Given the description of an element on the screen output the (x, y) to click on. 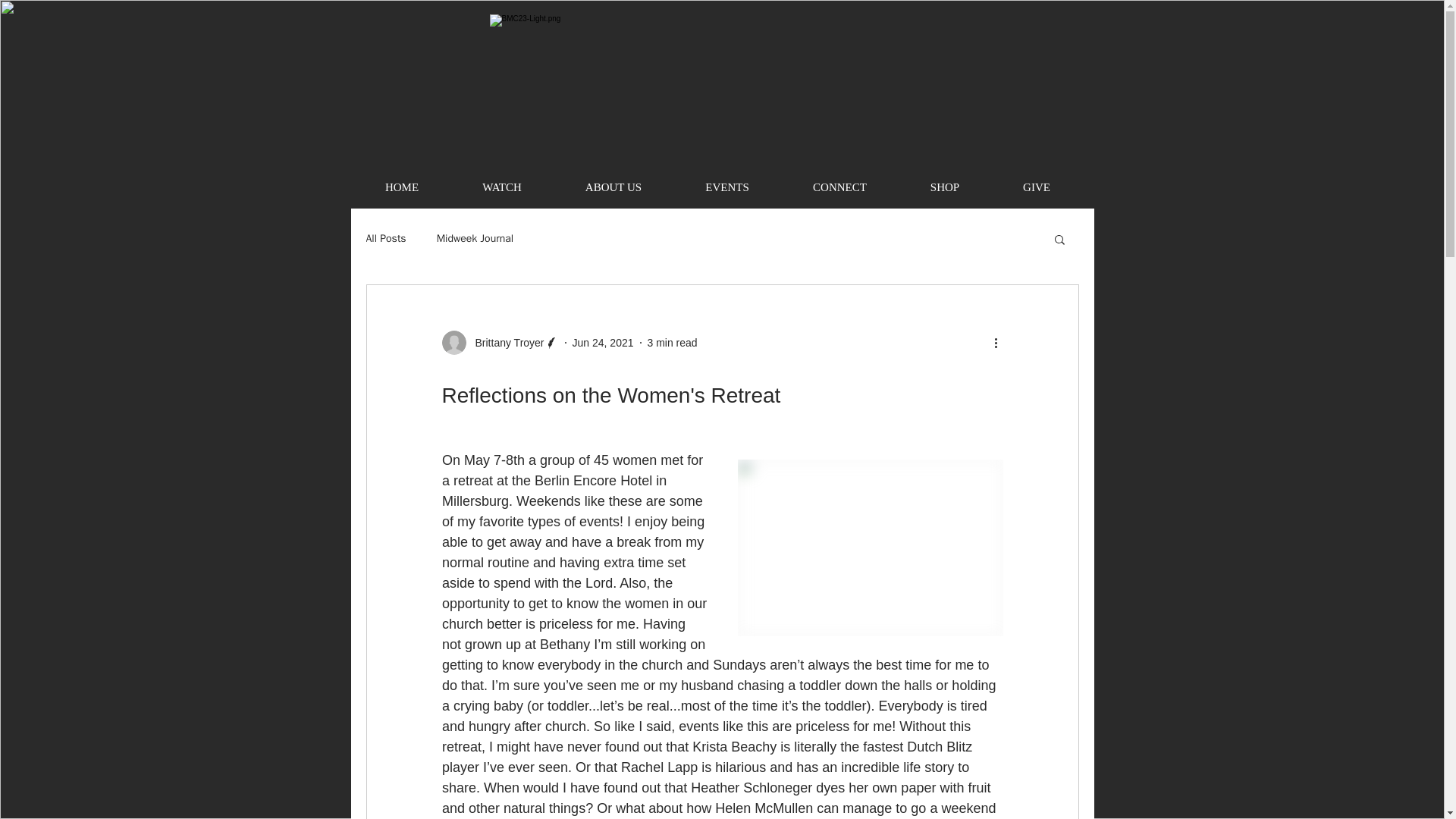
Brittany Troyer (504, 342)
SHOP (944, 187)
All Posts (385, 238)
CONNECT (839, 187)
HOME (401, 187)
Jun 24, 2021 (602, 342)
WATCH (501, 187)
EVENTS (726, 187)
GIVE (1035, 187)
3 min read (672, 342)
Midweek Journal (474, 238)
Brittany Troyer (499, 342)
ABOUT US (612, 187)
